Given the description of an element on the screen output the (x, y) to click on. 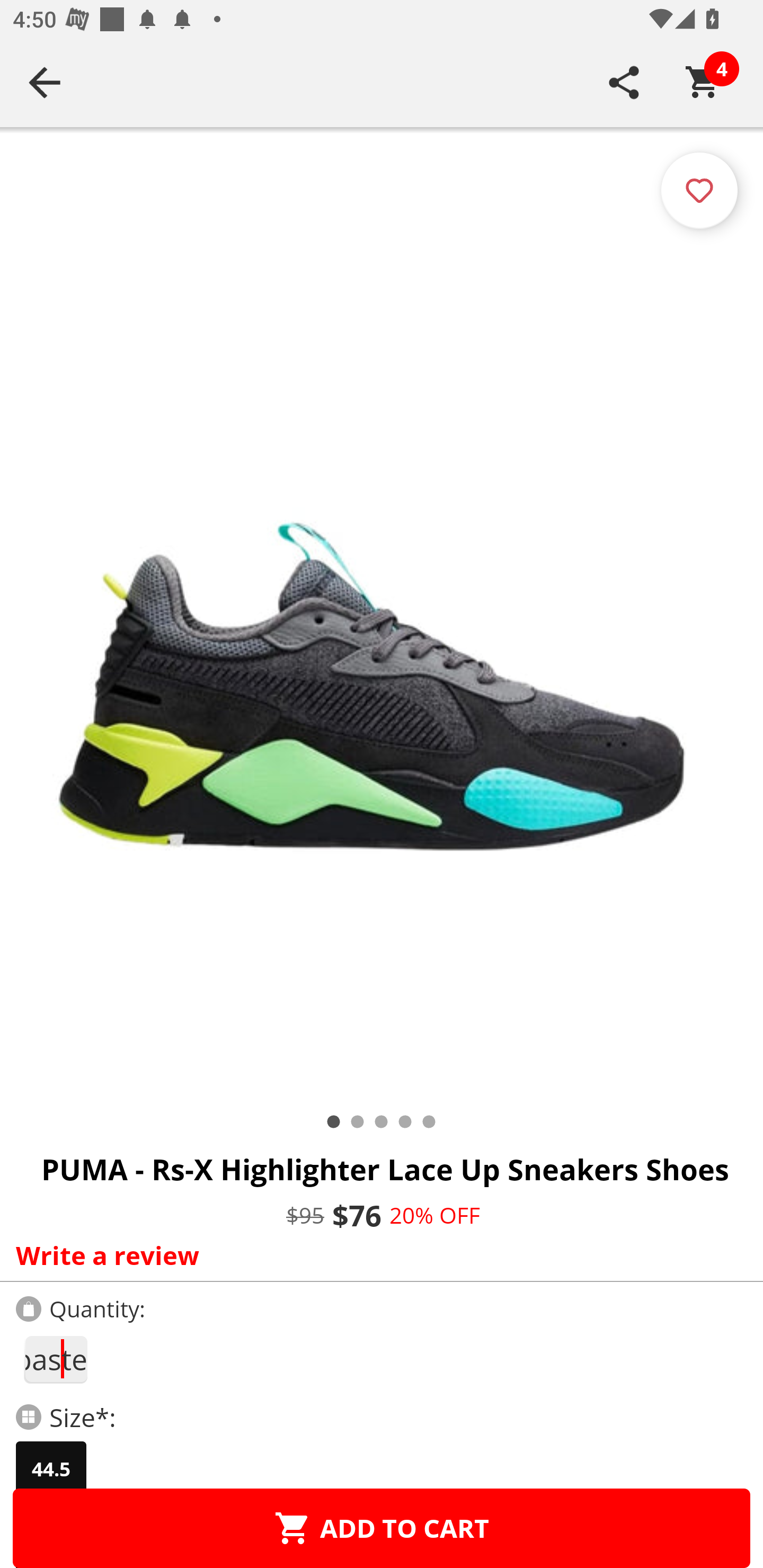
Navigate up (44, 82)
SHARE (623, 82)
Cart (703, 81)
Write a review (377, 1255)
1toothpaste (55, 1358)
44.5 (51, 1468)
ADD TO CART (381, 1528)
